Given the description of an element on the screen output the (x, y) to click on. 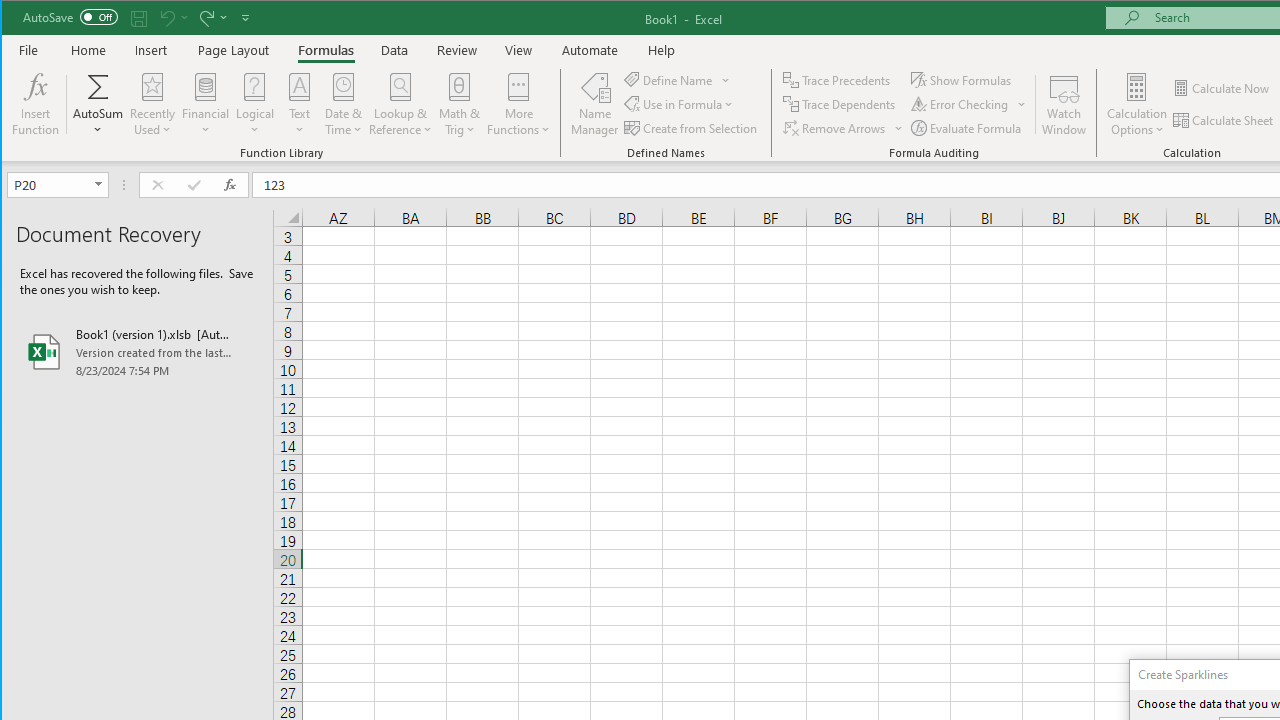
Formulas (326, 50)
Logical (255, 104)
Math & Trig (459, 104)
AutoSum (97, 104)
Lookup & Reference (401, 104)
Quick Access Toolbar (137, 17)
